Given the description of an element on the screen output the (x, y) to click on. 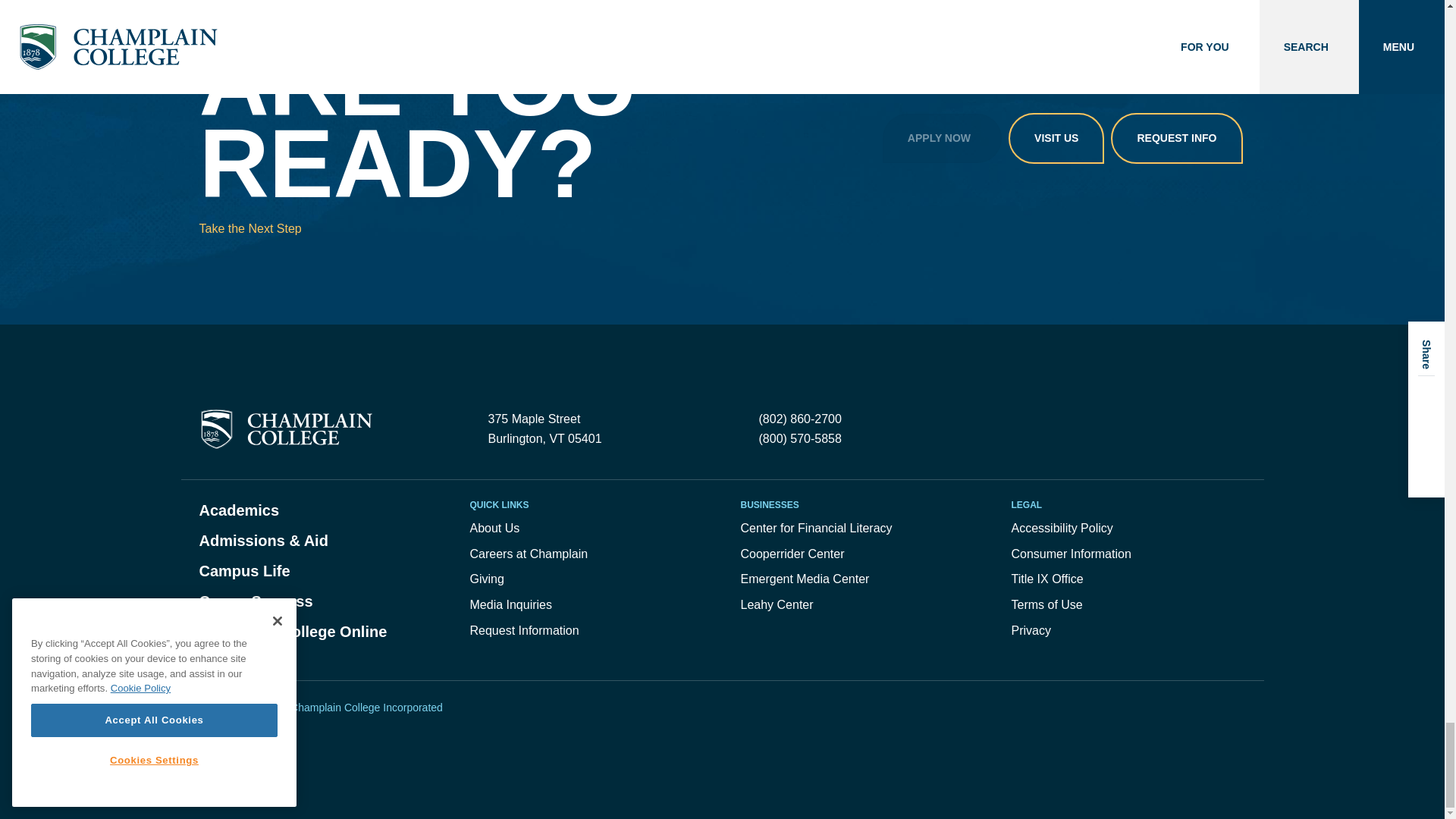
Champlain College (285, 428)
